Given the description of an element on the screen output the (x, y) to click on. 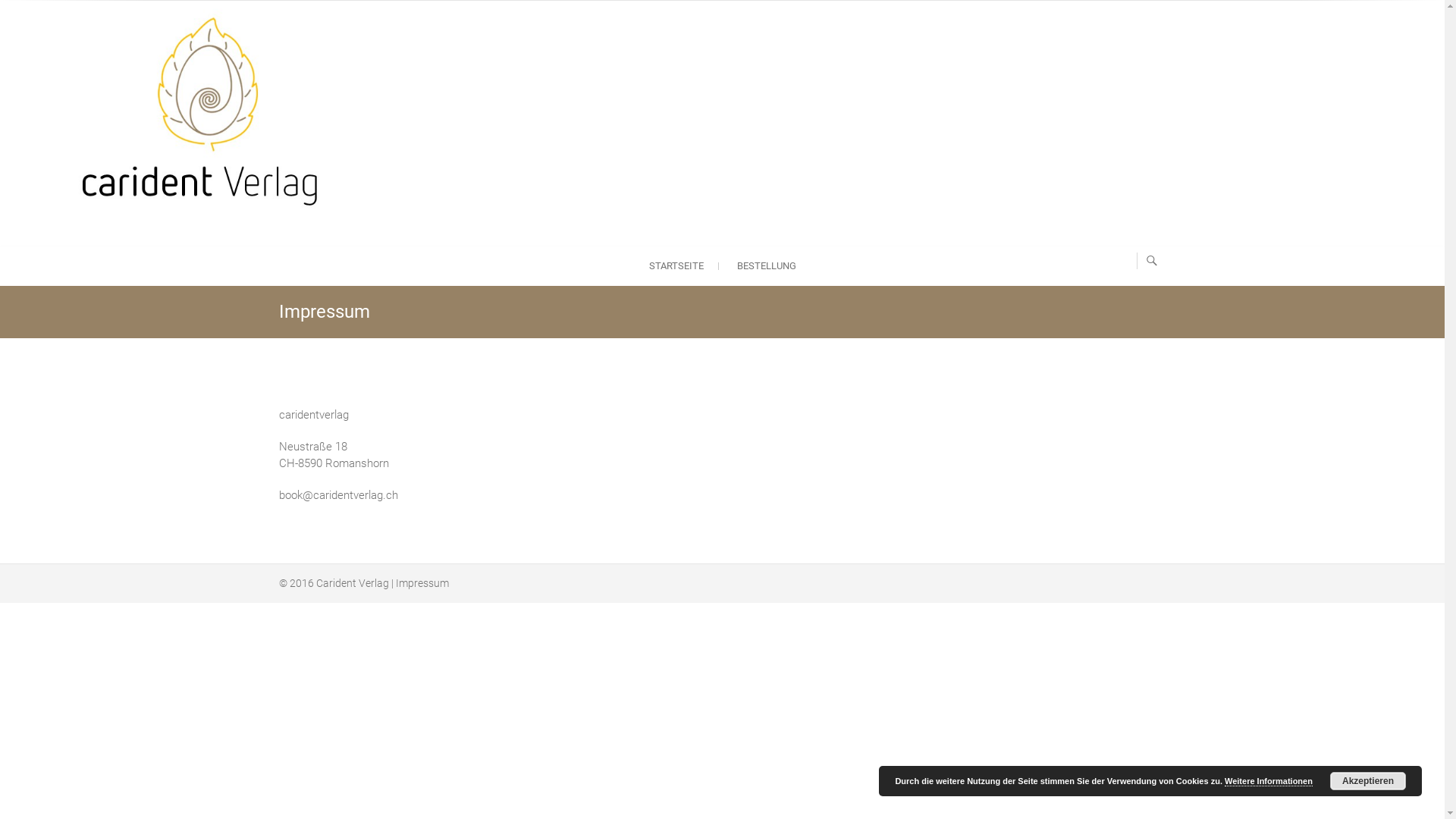
Carident Verlag Element type: text (351, 583)
Weitere Informationen Element type: text (1268, 781)
STARTSEITE Element type: text (675, 265)
Akzeptieren Element type: text (1367, 780)
Impressum Element type: text (421, 583)
BESTELLUNG Element type: text (766, 265)
